Given the description of an element on the screen output the (x, y) to click on. 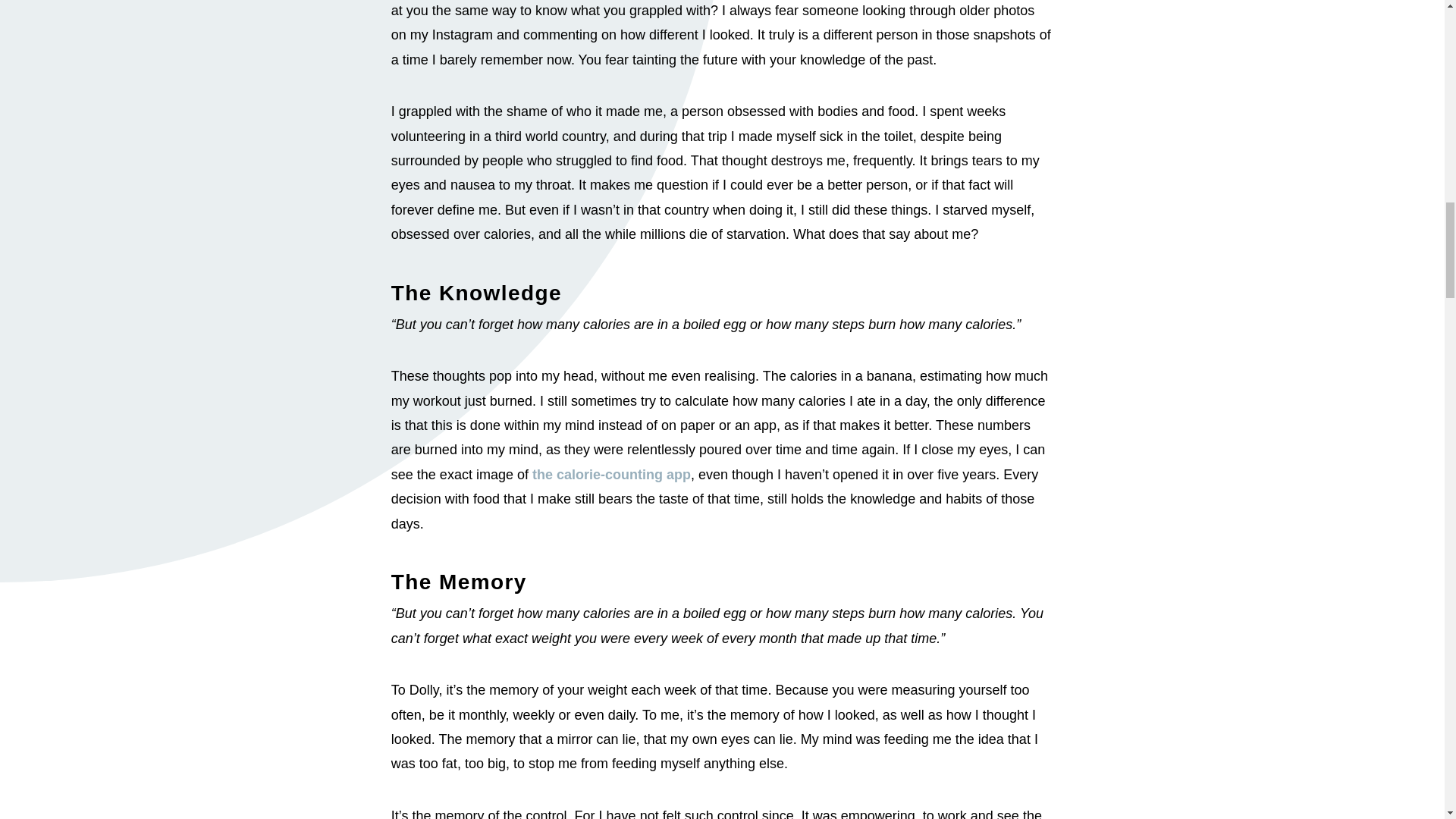
the calorie-counting app (611, 474)
